Given the description of an element on the screen output the (x, y) to click on. 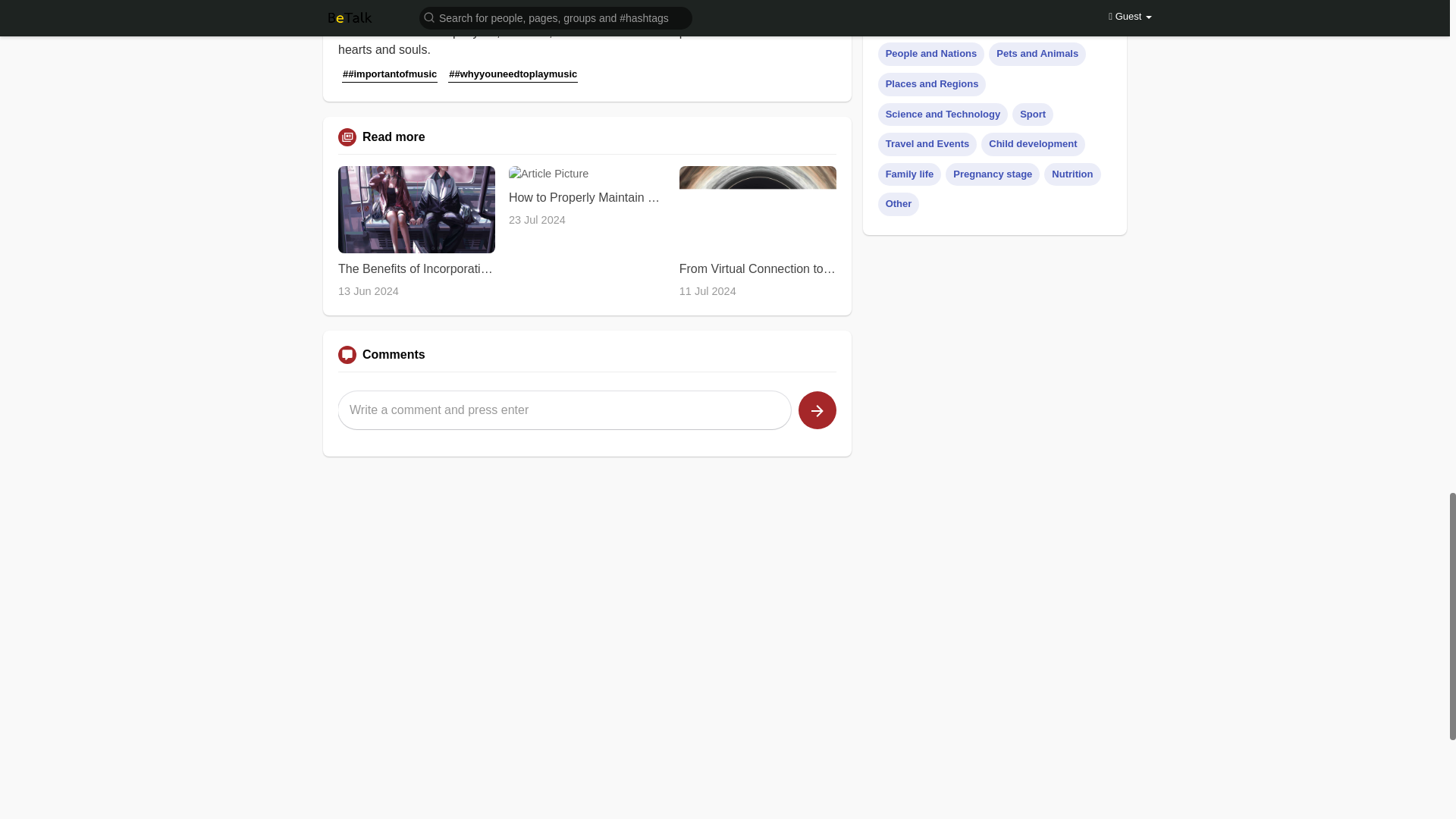
The Benefits of Incorporating a Barbell 25 Workout Routine (416, 269)
